Given the description of an element on the screen output the (x, y) to click on. 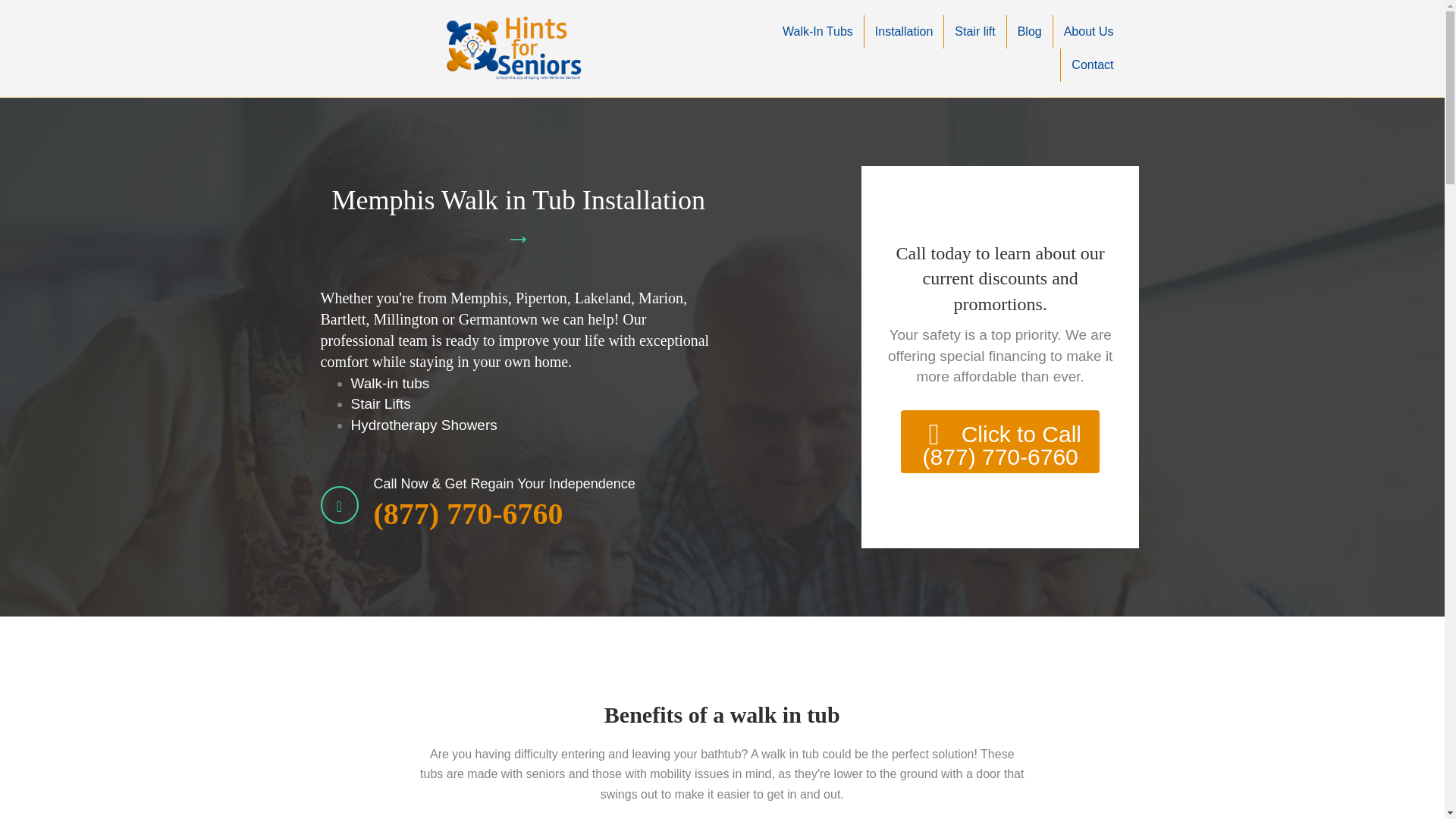
Blog (876, 796)
XML (850, 796)
Contact (1092, 64)
Privacy Policy (656, 796)
About Us (1088, 31)
Sitemap (817, 796)
Blog (1029, 31)
Walk-In Tubs (817, 31)
TOS (702, 796)
Hints for Seniors Logo 2024 Website (513, 48)
Affiliate Disclosure (756, 796)
Installation (903, 31)
Stair lift (974, 31)
